Given the description of an element on the screen output the (x, y) to click on. 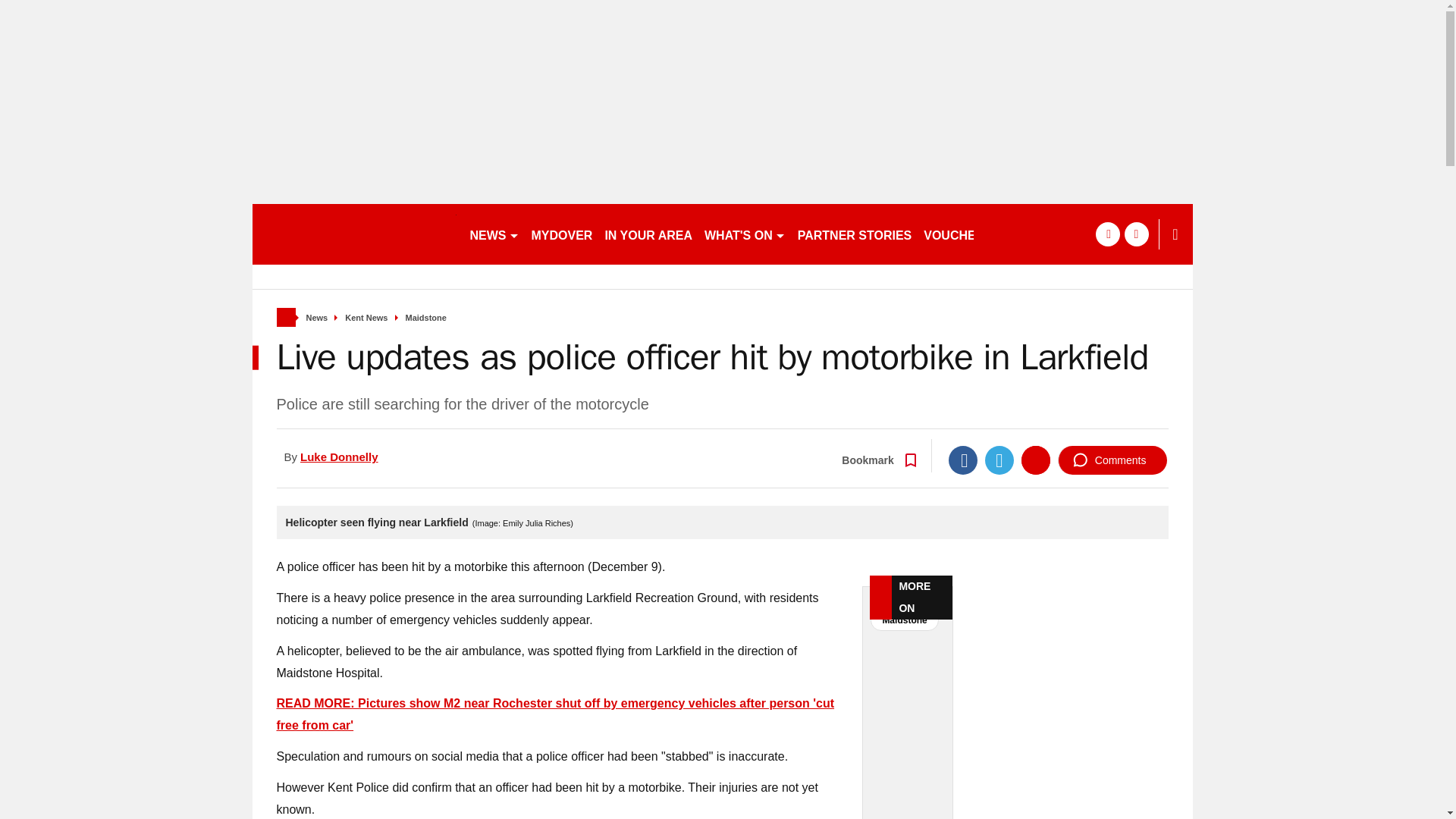
IN YOUR AREA (648, 233)
MYDOVER (561, 233)
Facebook (962, 460)
twitter (1136, 233)
facebook (1106, 233)
NEWS (494, 233)
kentlive (353, 233)
Comments (1112, 460)
Twitter (999, 460)
PARTNER STORIES (855, 233)
